Given the description of an element on the screen output the (x, y) to click on. 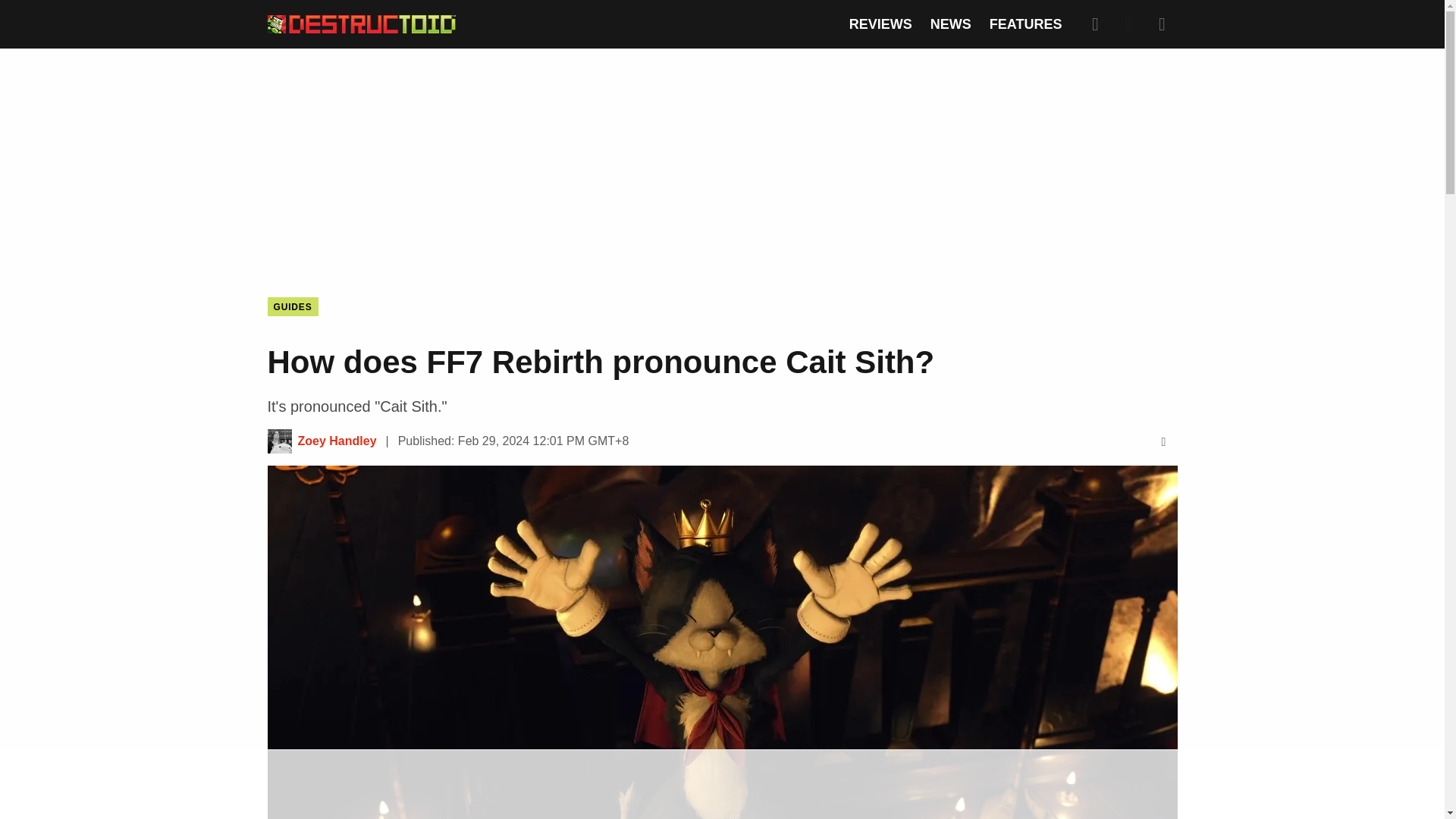
3rd party ad content (721, 160)
REVIEWS (880, 23)
GUIDES (291, 306)
Expand Menu (1161, 24)
Dark Mode (1127, 24)
NEWS (950, 23)
Search (1094, 24)
3rd party ad content (721, 785)
FEATURES (1026, 23)
